Given the description of an element on the screen output the (x, y) to click on. 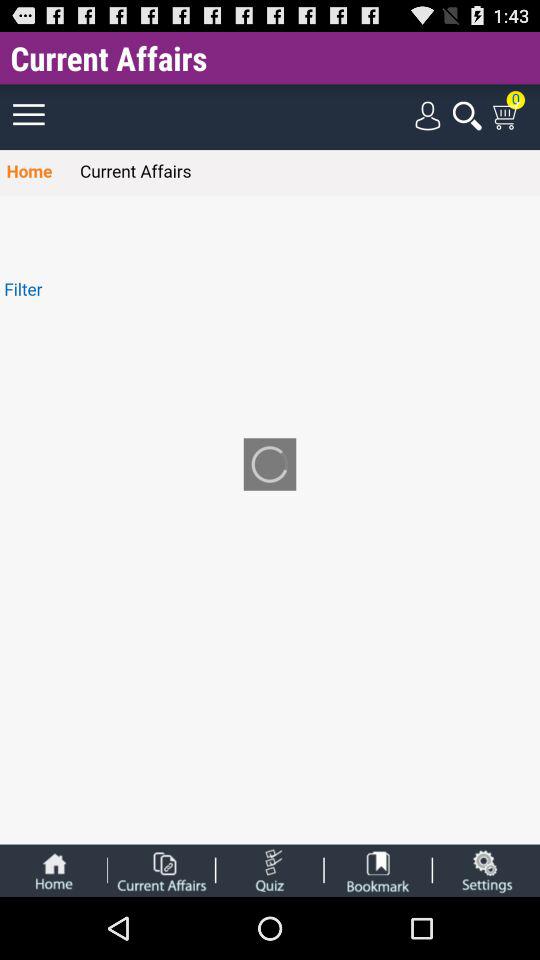
go home (53, 870)
